Given the description of an element on the screen output the (x, y) to click on. 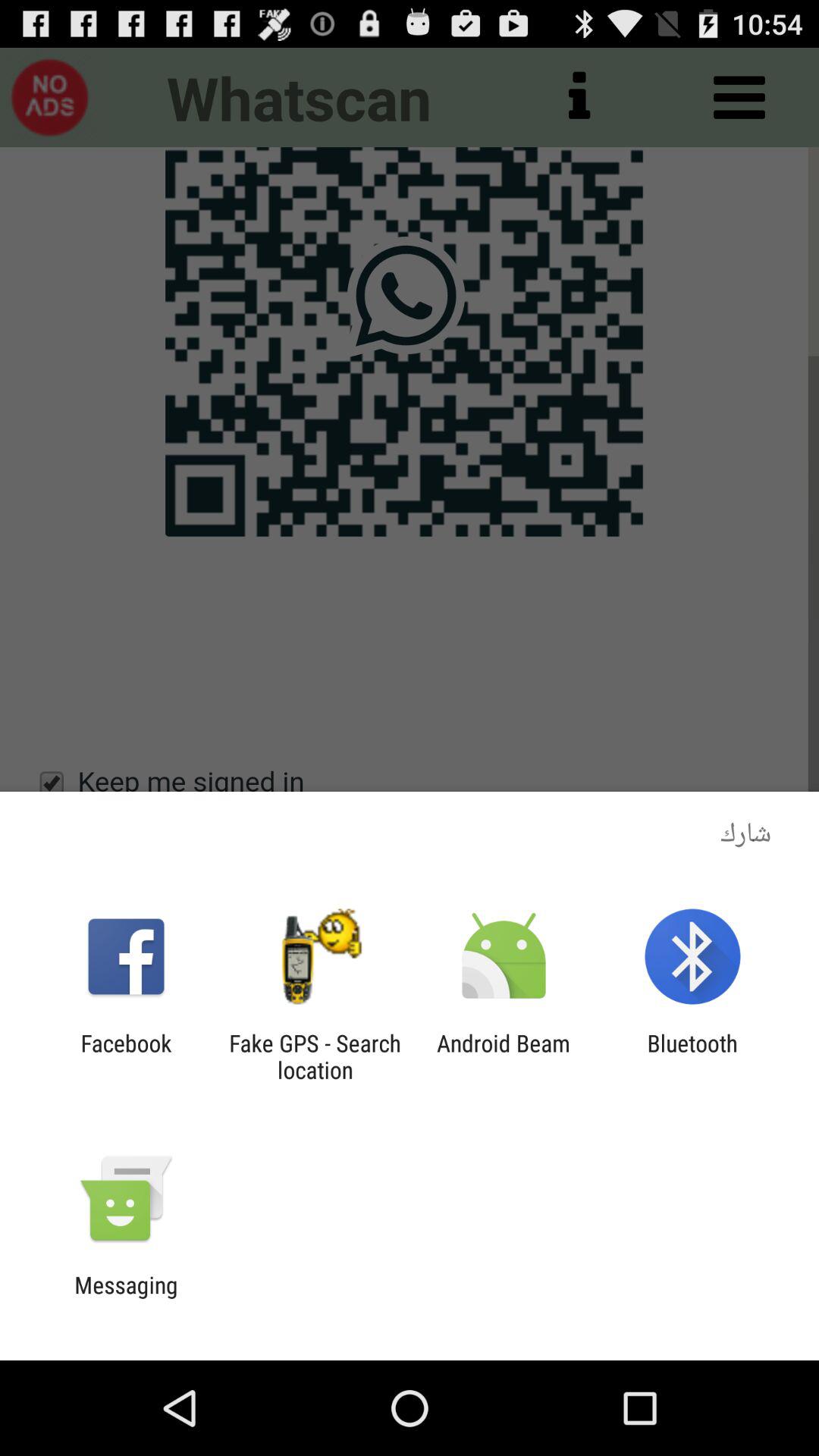
select the item to the right of fake gps search icon (503, 1056)
